Given the description of an element on the screen output the (x, y) to click on. 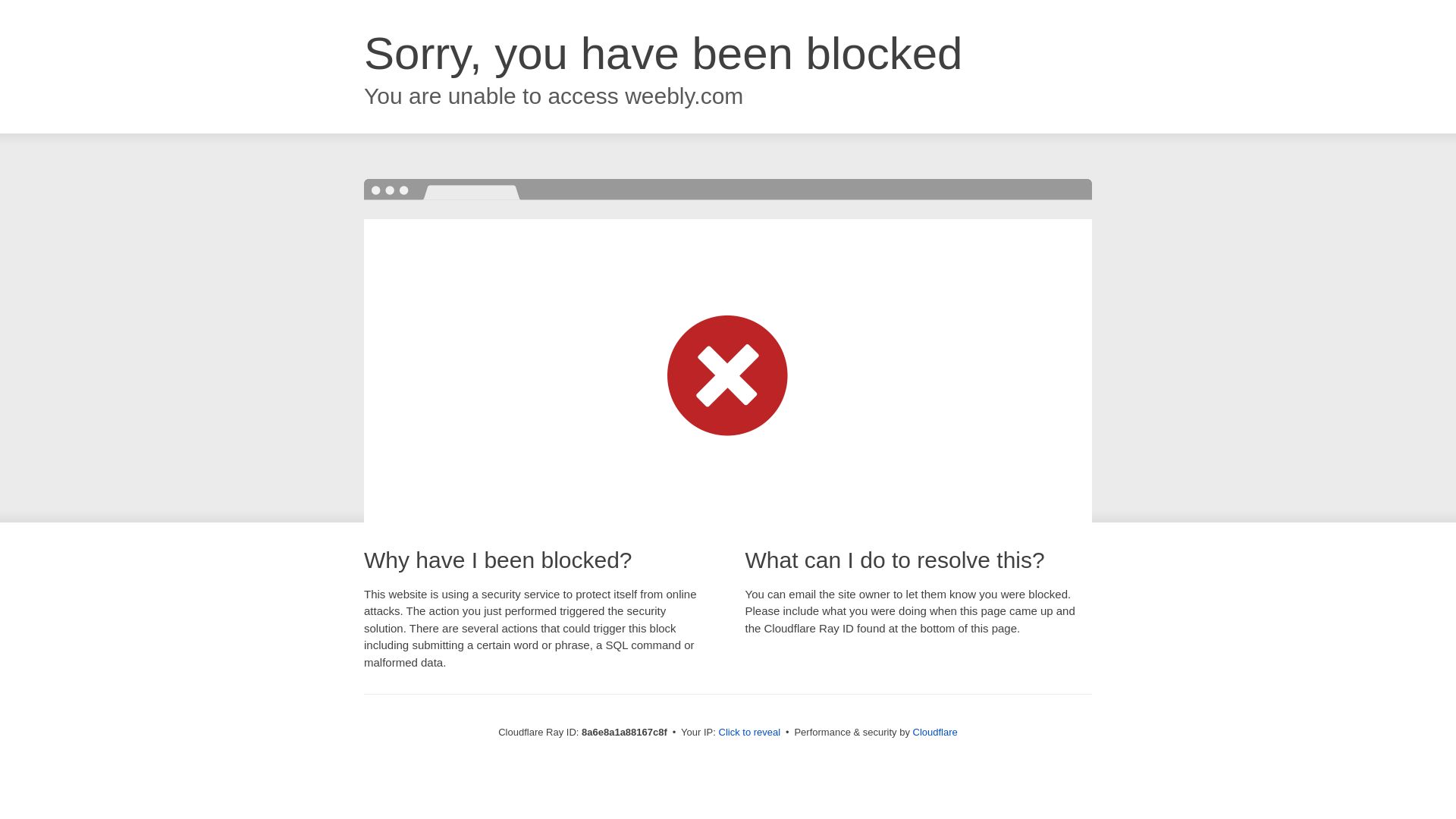
Cloudflare (935, 731)
Click to reveal (749, 732)
